Given the description of an element on the screen output the (x, y) to click on. 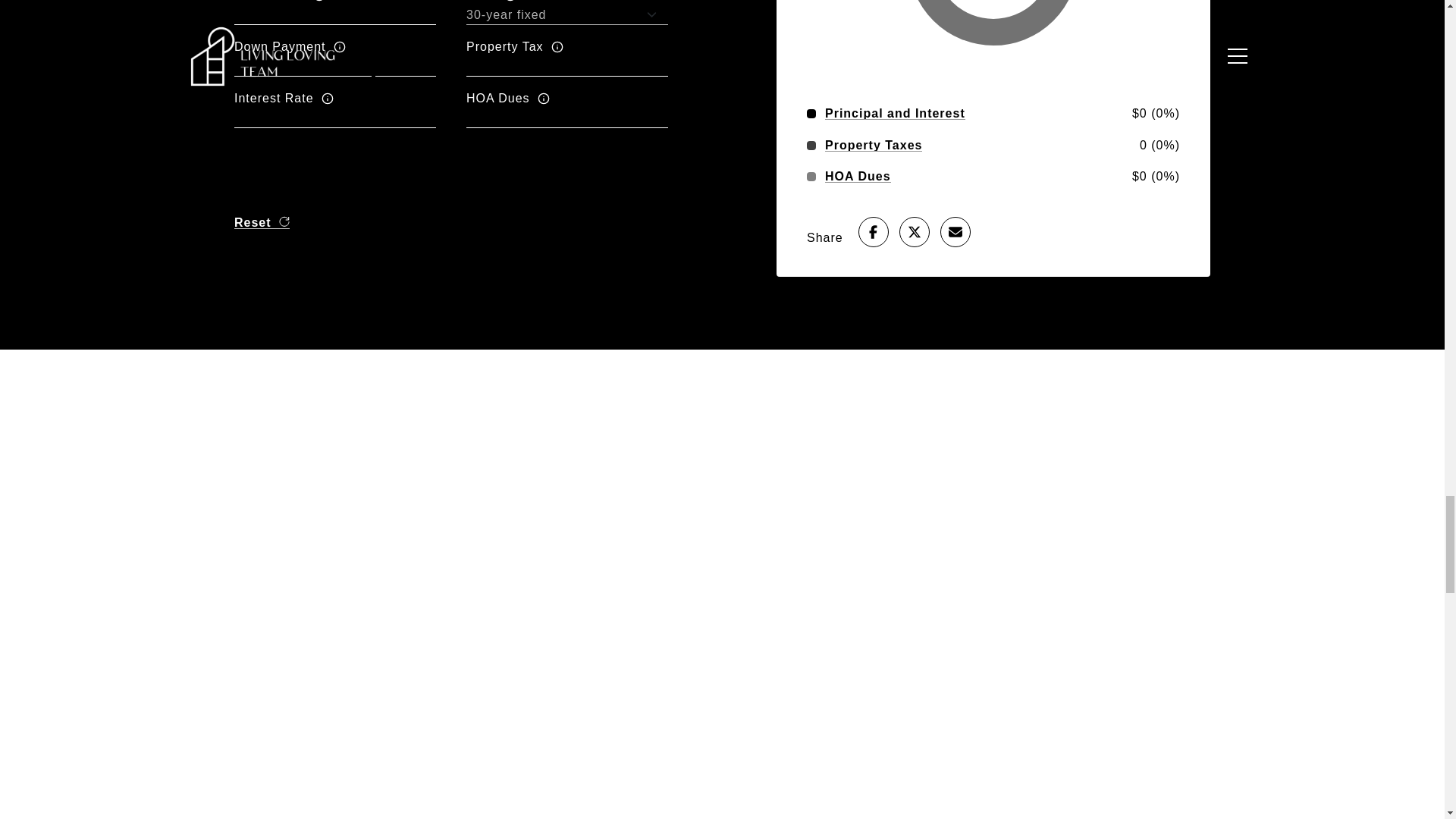
Reset (261, 222)
